Given the description of an element on the screen output the (x, y) to click on. 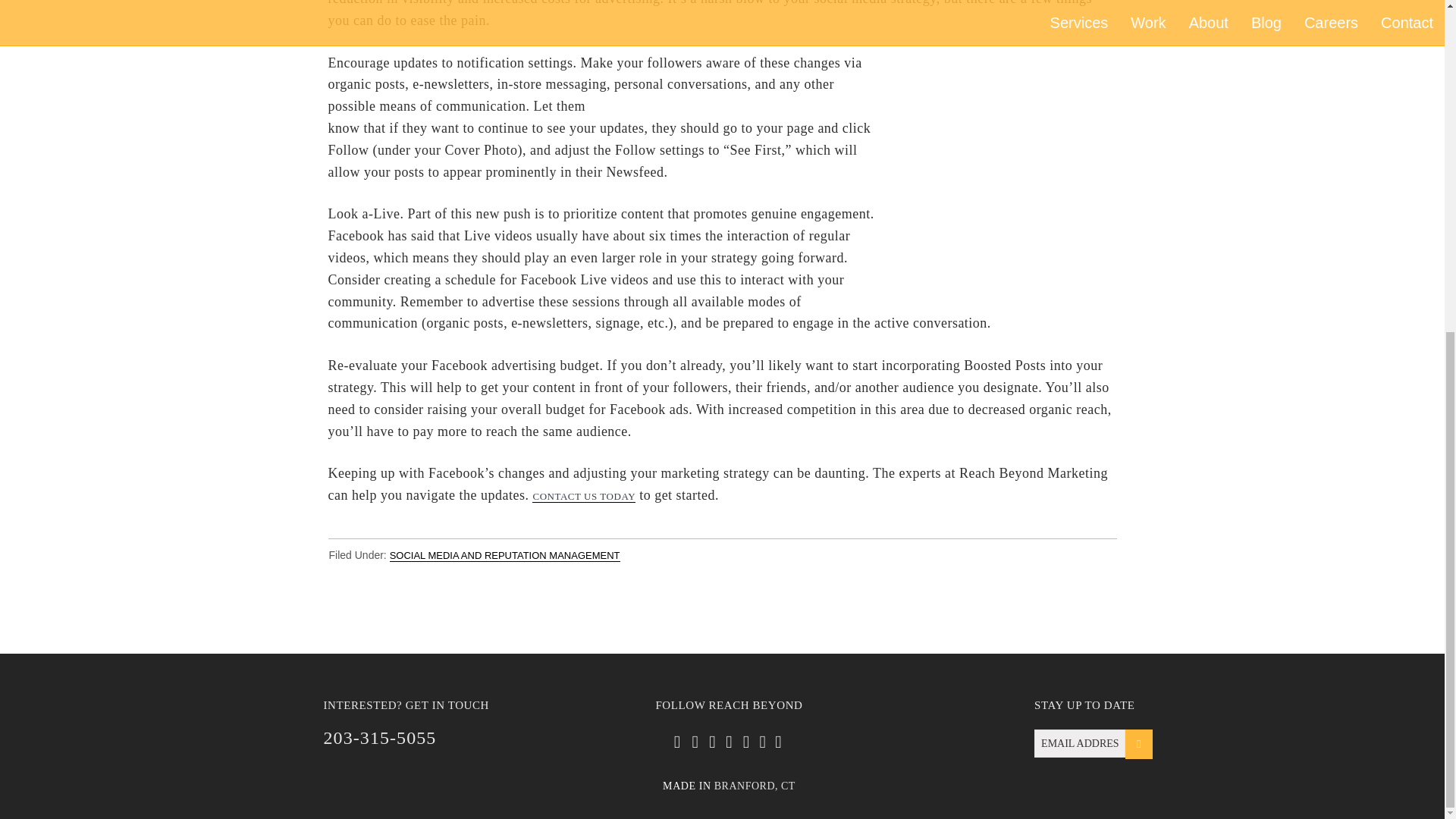
203-315-5055 (379, 737)
BRANFORD, CT (754, 785)
CONTACT US TODAY (583, 496)
SOCIAL MEDIA AND REPUTATION MANAGEMENT (505, 555)
